Given the description of an element on the screen output the (x, y) to click on. 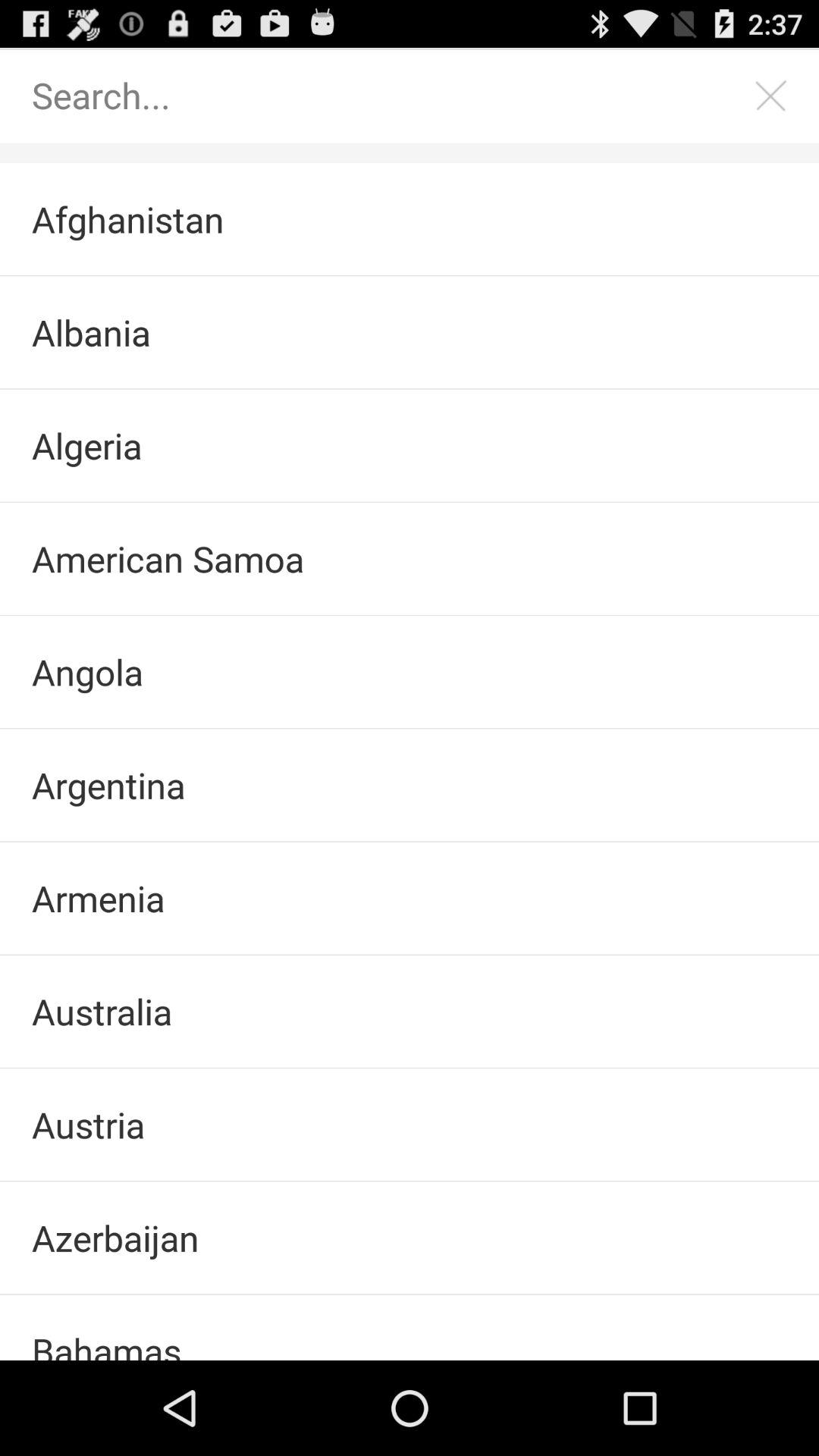
tap algeria item (409, 445)
